Given the description of an element on the screen output the (x, y) to click on. 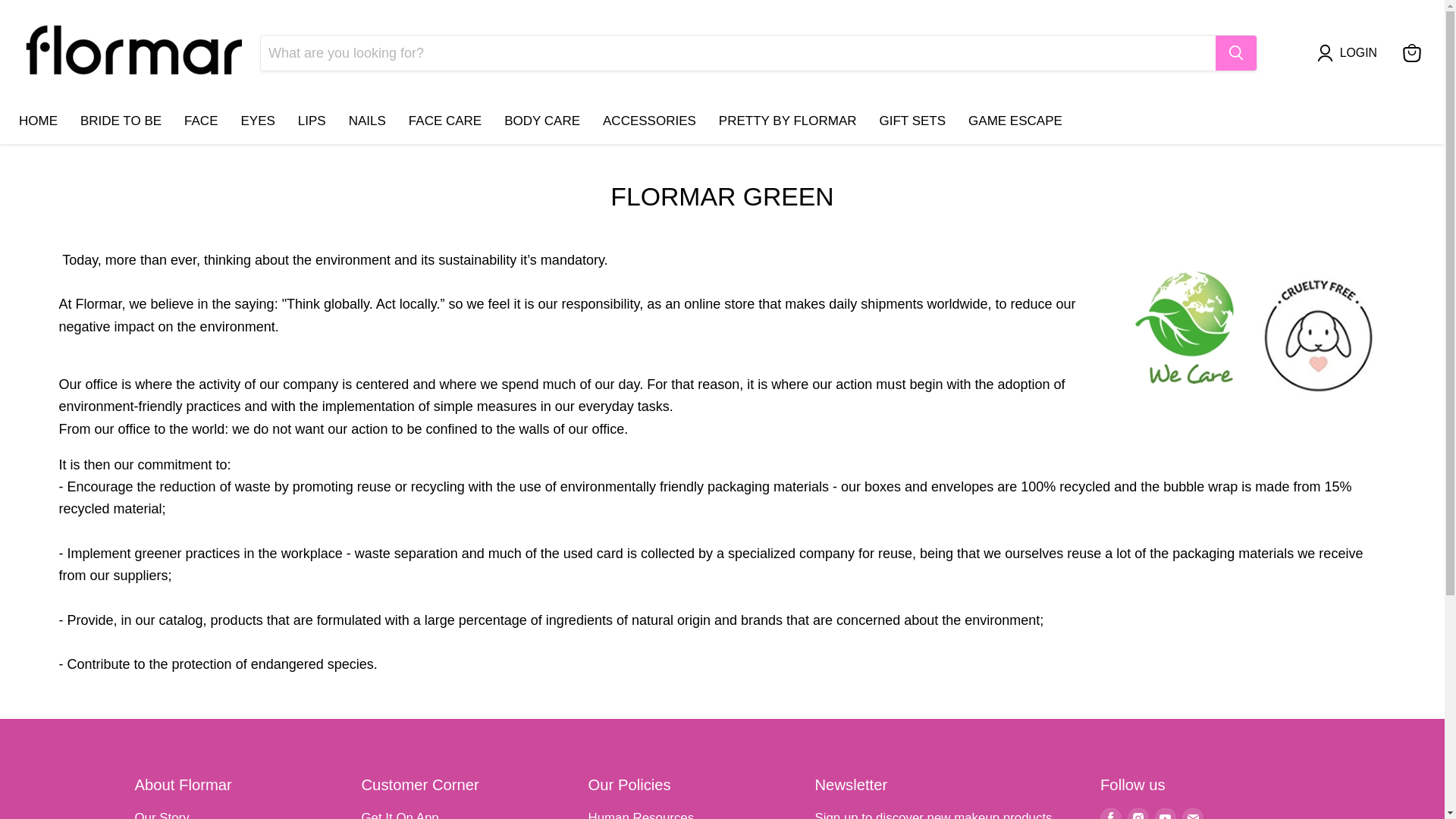
LIPS (311, 121)
GIFT SETS (912, 121)
FACE CARE (445, 121)
Email (1193, 813)
BRIDE TO BE (120, 121)
LOGIN (1358, 53)
Our Story (162, 814)
PRETTY BY FLORMAR (787, 121)
View Bag (1411, 52)
EYES (256, 121)
